Given the description of an element on the screen output the (x, y) to click on. 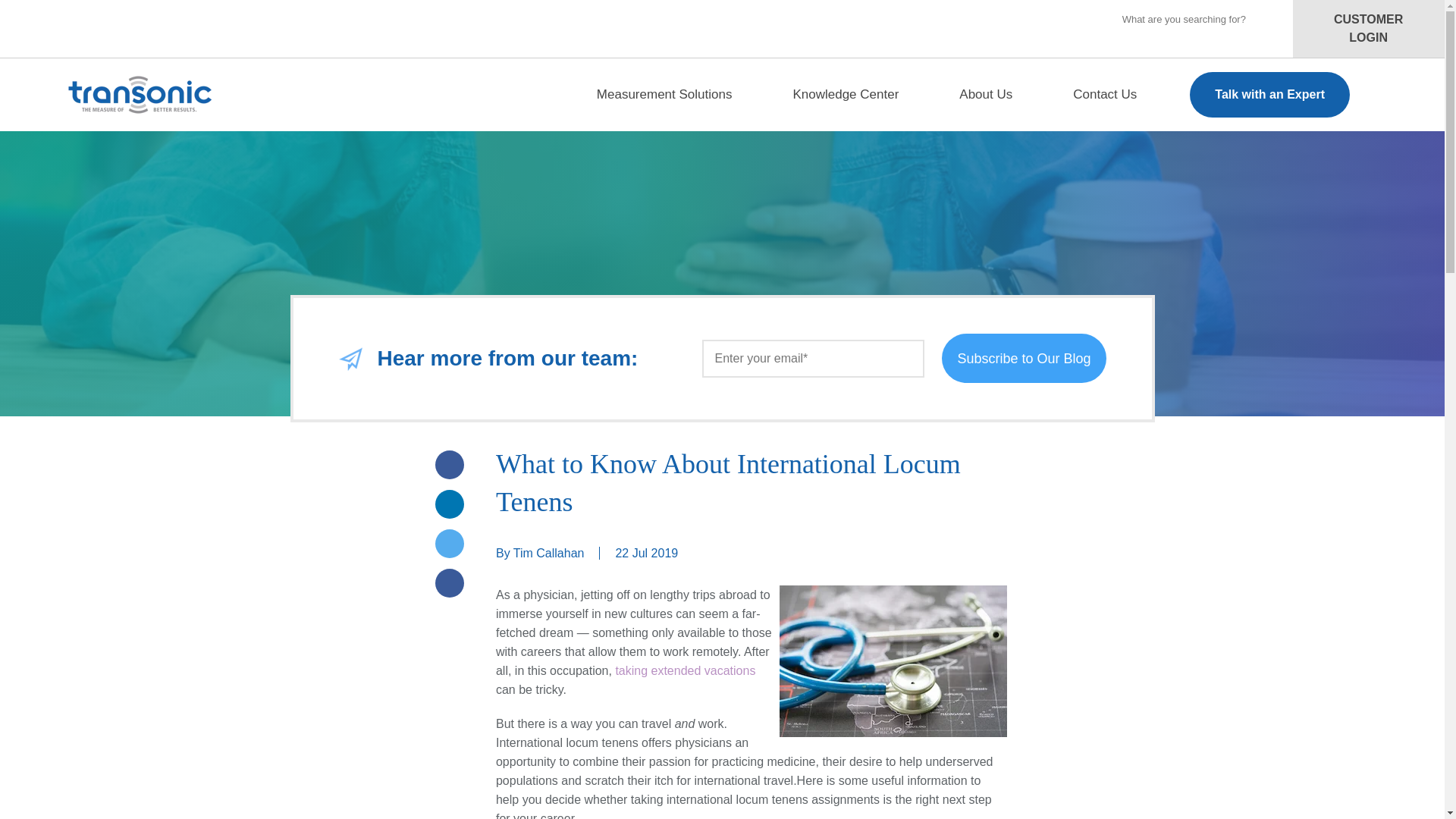
Talk with an Expert (1269, 94)
Share on Facebook (449, 464)
Knowledge Center (860, 94)
Subscribe to Our Blog (1023, 358)
Share on LinkedIn (449, 503)
Tweet (449, 543)
Measurement Solutions (679, 94)
About Us (1000, 94)
submit (36, 18)
